Given the description of an element on the screen output the (x, y) to click on. 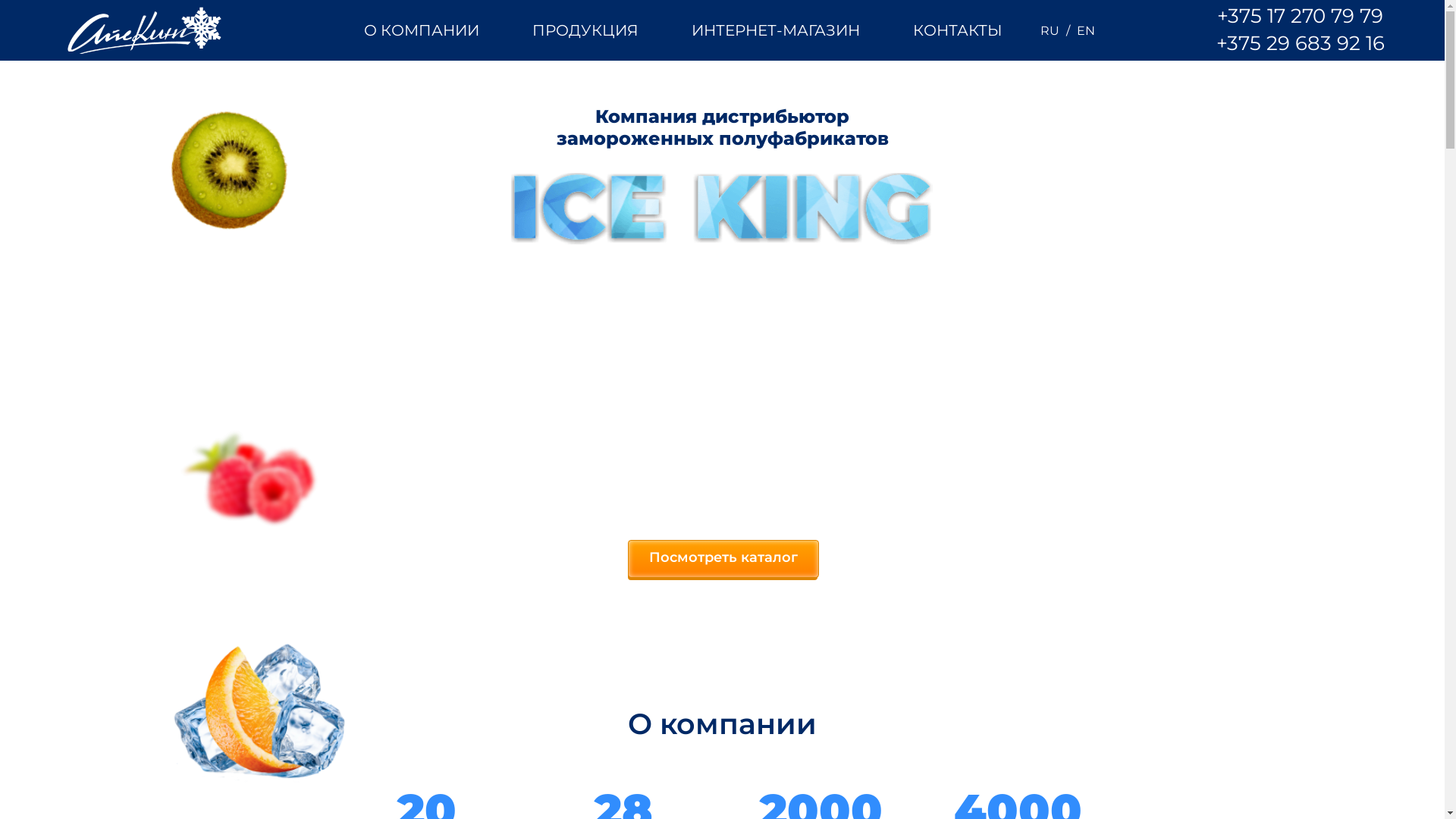
RU Element type: text (1049, 29)
+375 29 683 92 16 Element type: text (1300, 43)
+375 17 270 79 79 Element type: text (1300, 15)
EN Element type: text (1085, 29)
